Given the description of an element on the screen output the (x, y) to click on. 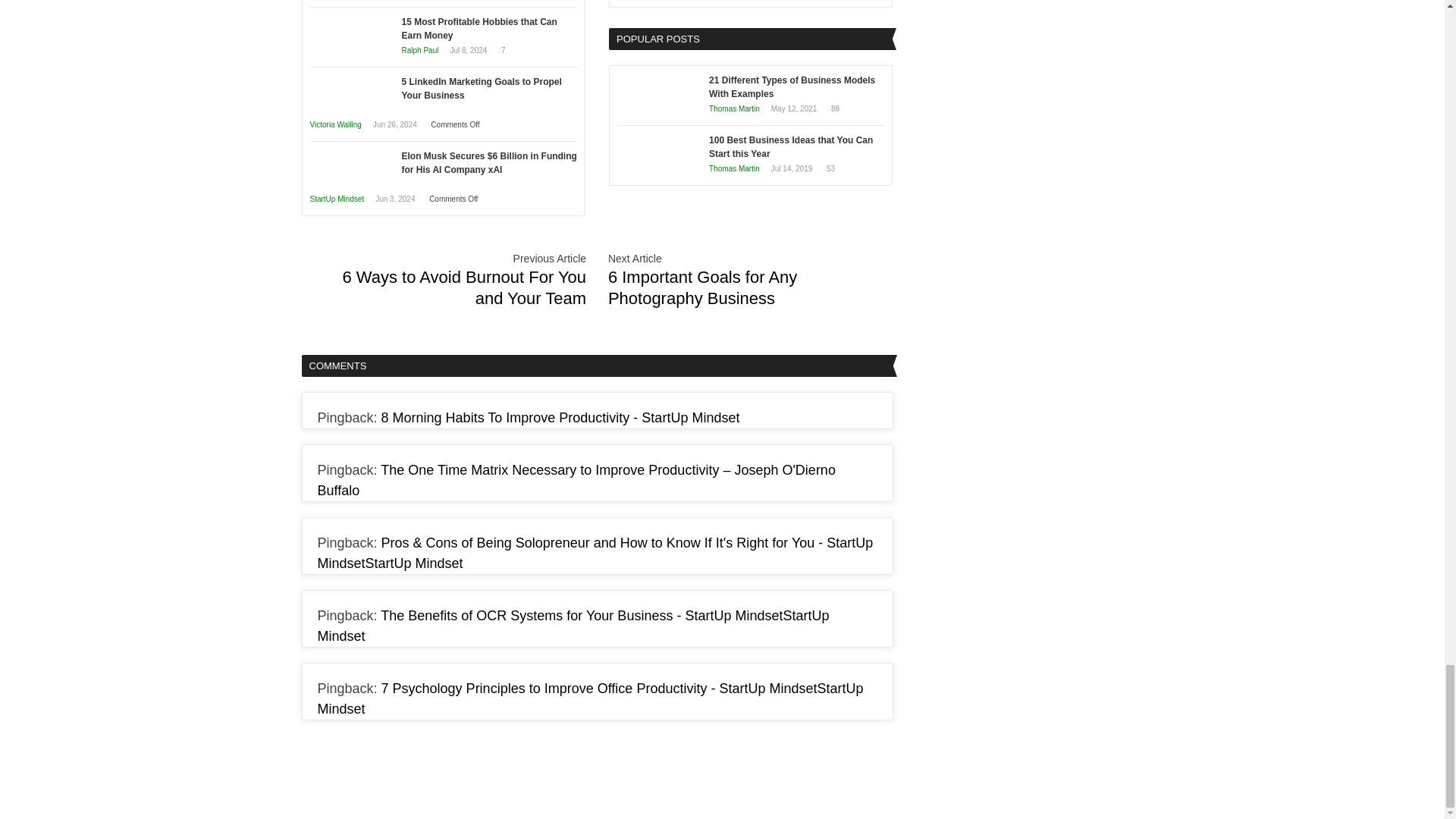
Posts by Ralph Paul (420, 49)
Posts by Thomas Martin (734, 168)
Posts by StartUp Mindset (336, 198)
Posts by Thomas Martin (734, 108)
Posts by Victoria Walling (334, 124)
